Given the description of an element on the screen output the (x, y) to click on. 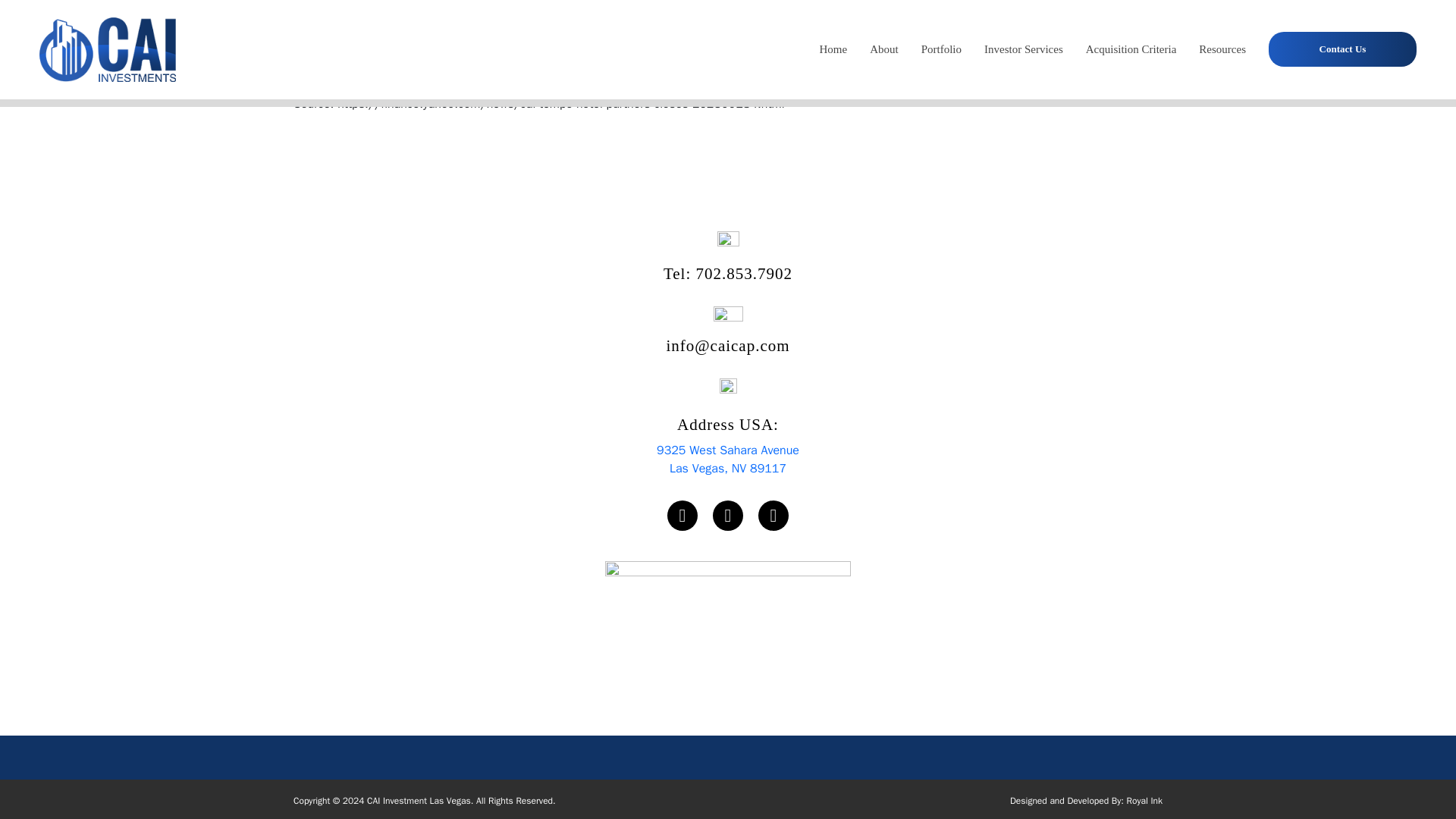
Royal Ink (727, 459)
702.853.7902 (1143, 800)
